Given the description of an element on the screen output the (x, y) to click on. 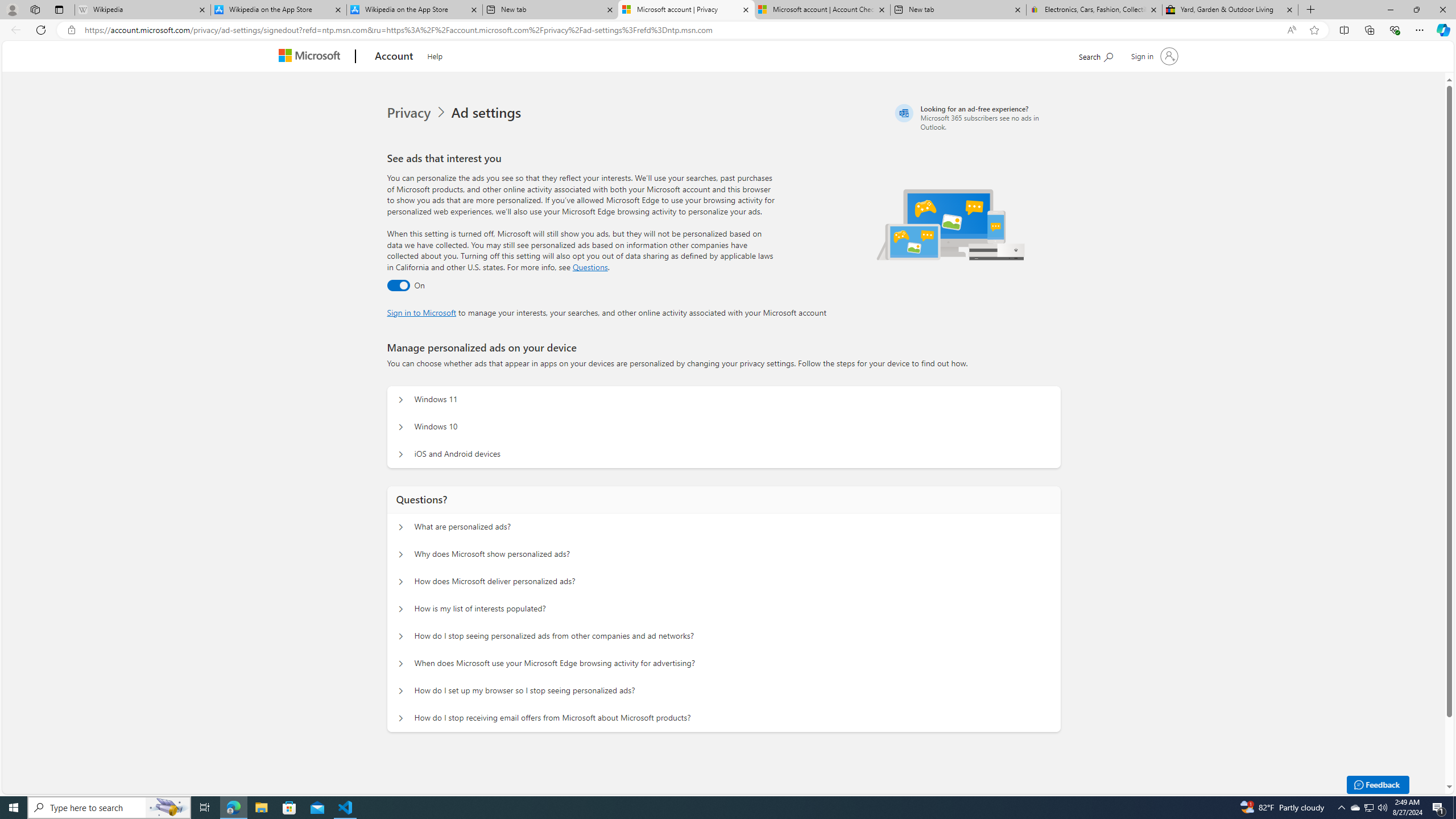
Go to Questions section (590, 266)
Illustration of multiple devices (951, 224)
Sign in to Microsoft (422, 311)
